Given the description of an element on the screen output the (x, y) to click on. 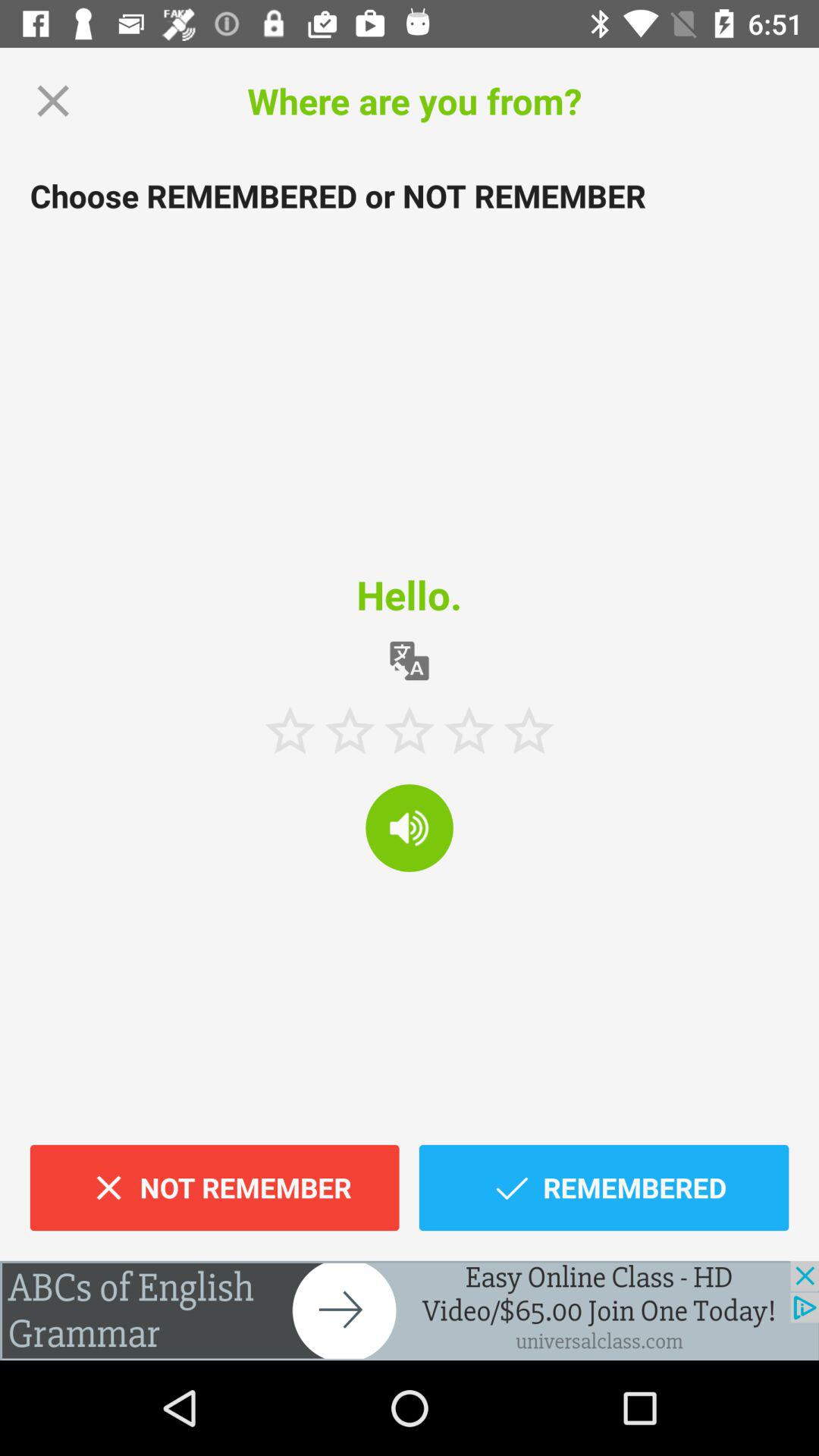
advertisement (409, 1310)
